Given the description of an element on the screen output the (x, y) to click on. 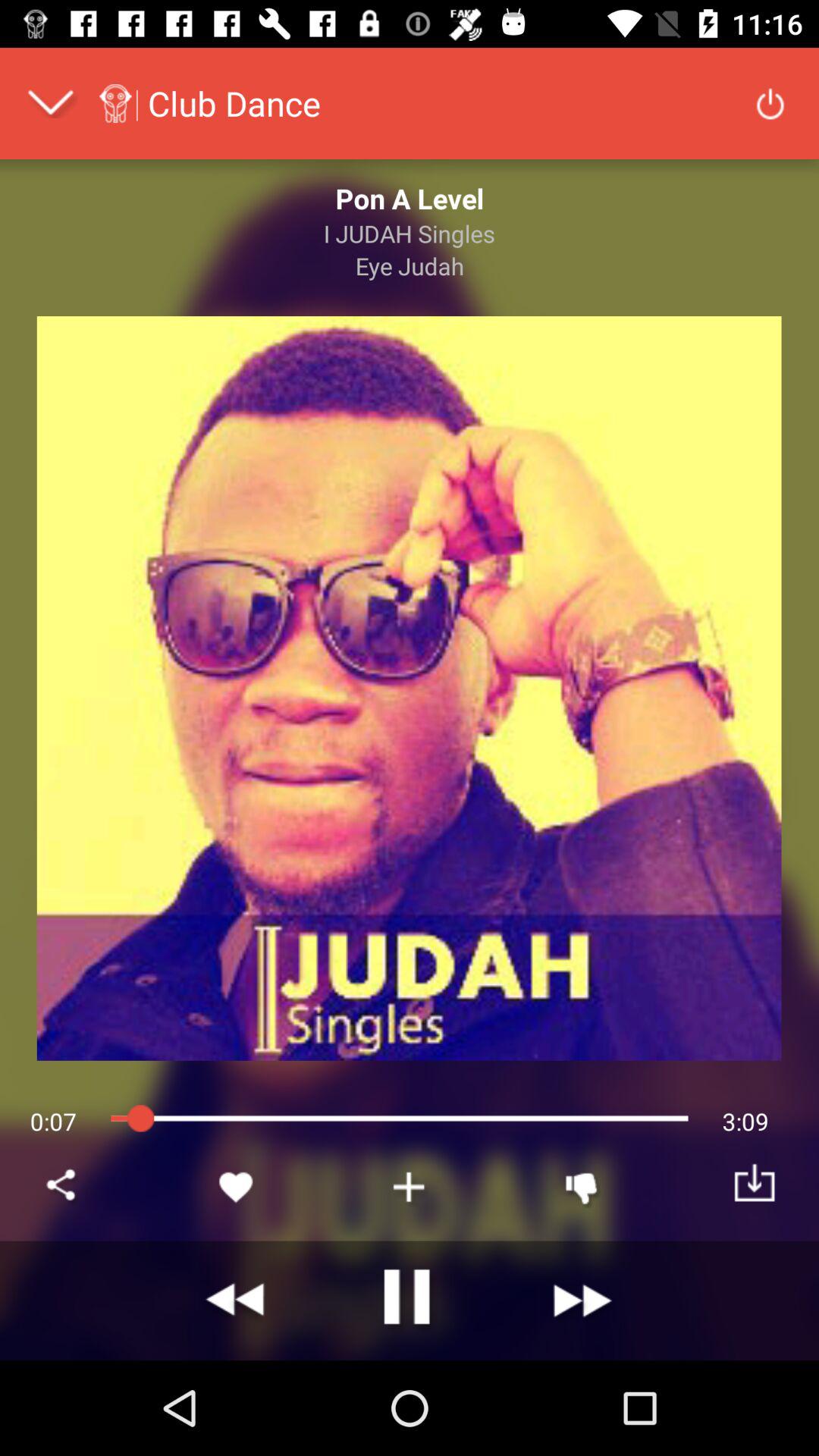
music list (409, 1186)
